Given the description of an element on the screen output the (x, y) to click on. 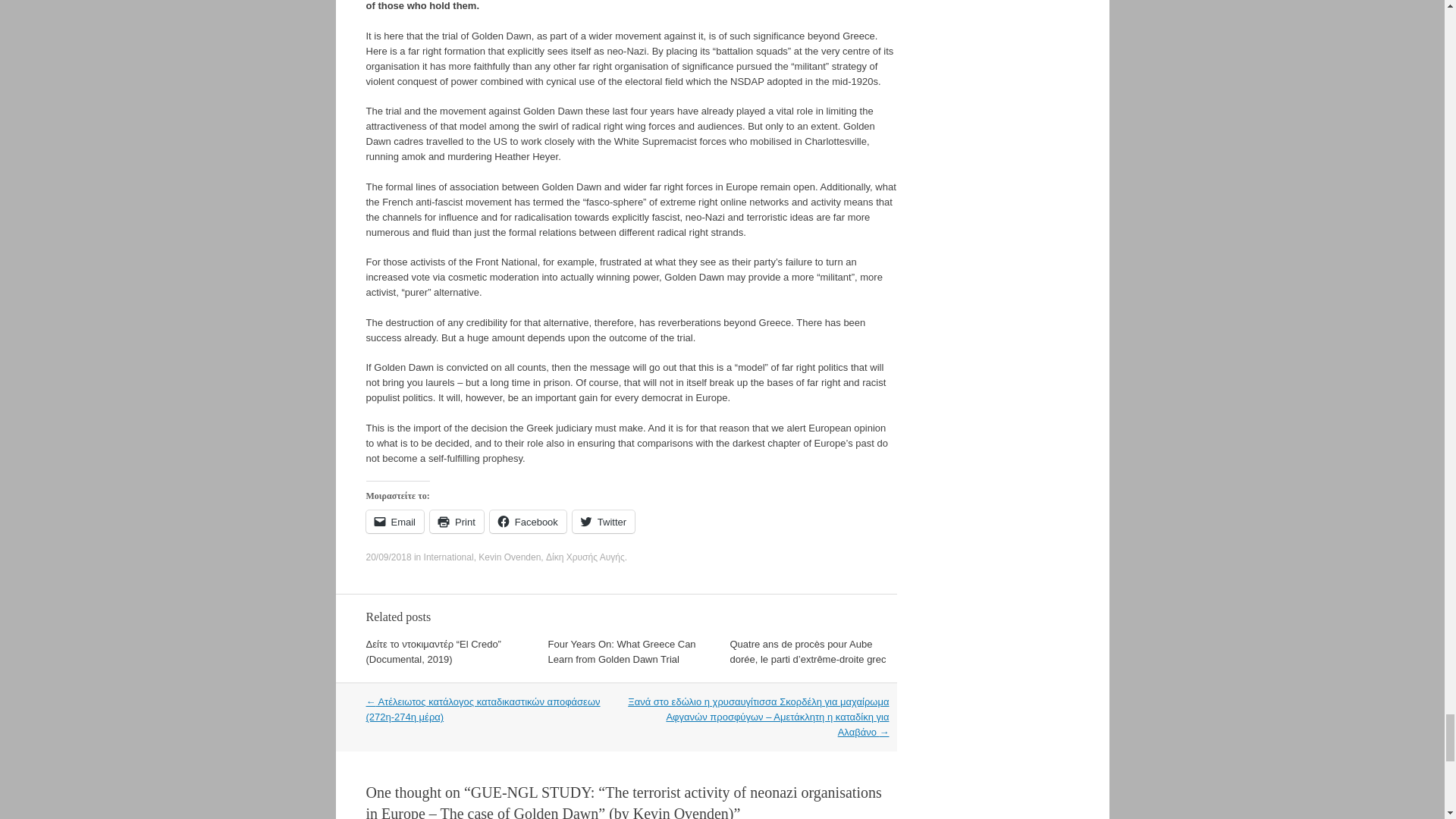
Click to email a link to a friend (394, 521)
Click to print (456, 521)
Click to share on Twitter (603, 521)
Click to share on Facebook (527, 521)
